Given the description of an element on the screen output the (x, y) to click on. 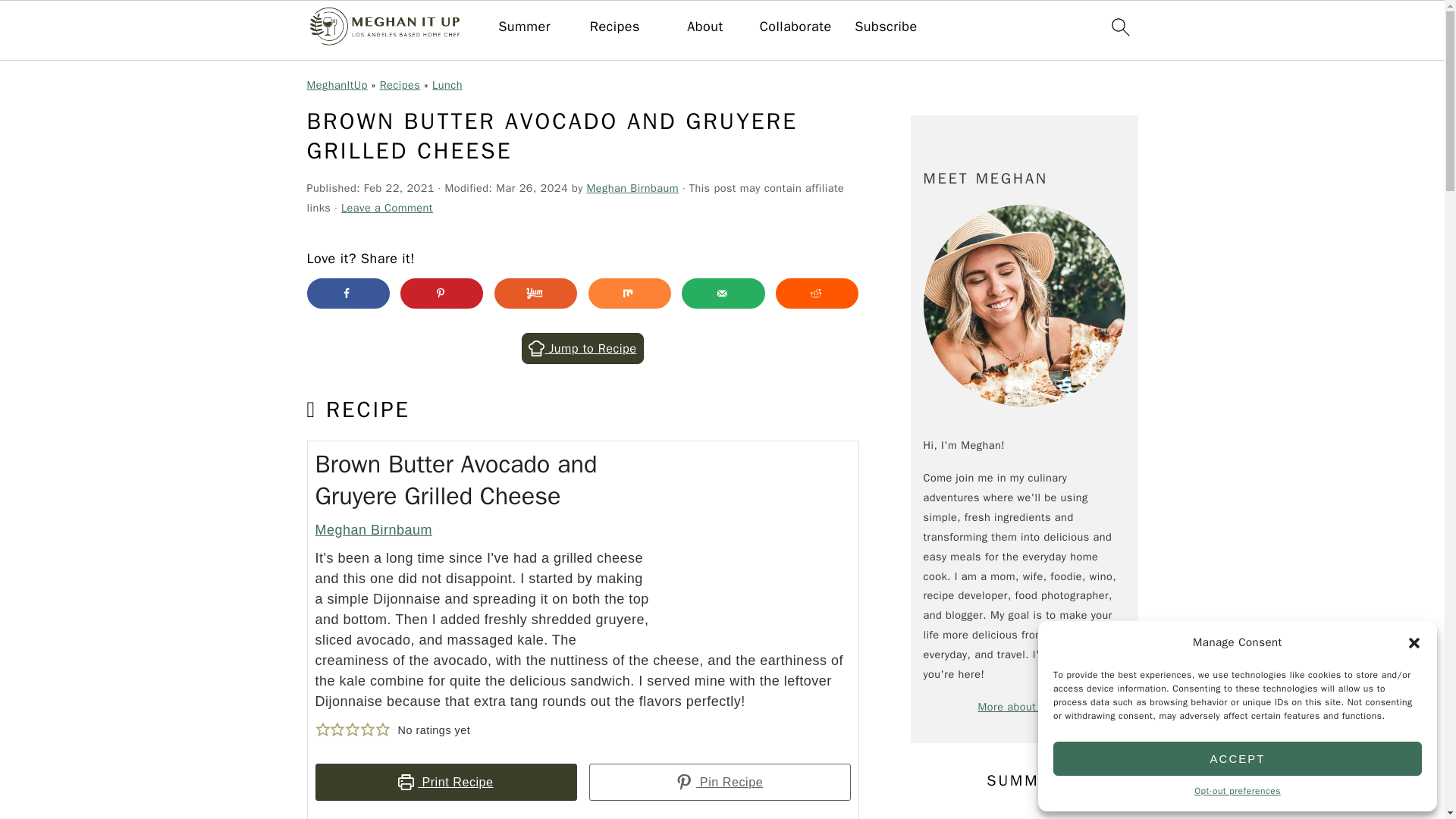
Save to Pinterest (441, 293)
ACCEPT (1237, 758)
Collaborate (795, 27)
Summer (523, 27)
Send over email (722, 293)
search icon (1119, 26)
Share on Facebook (346, 293)
About (704, 27)
Share on Reddit (817, 293)
Share on Yummly (535, 293)
Share on Mix (629, 293)
Recipes (614, 27)
Opt-out preferences (1237, 791)
Subscribe (885, 27)
